Given the description of an element on the screen output the (x, y) to click on. 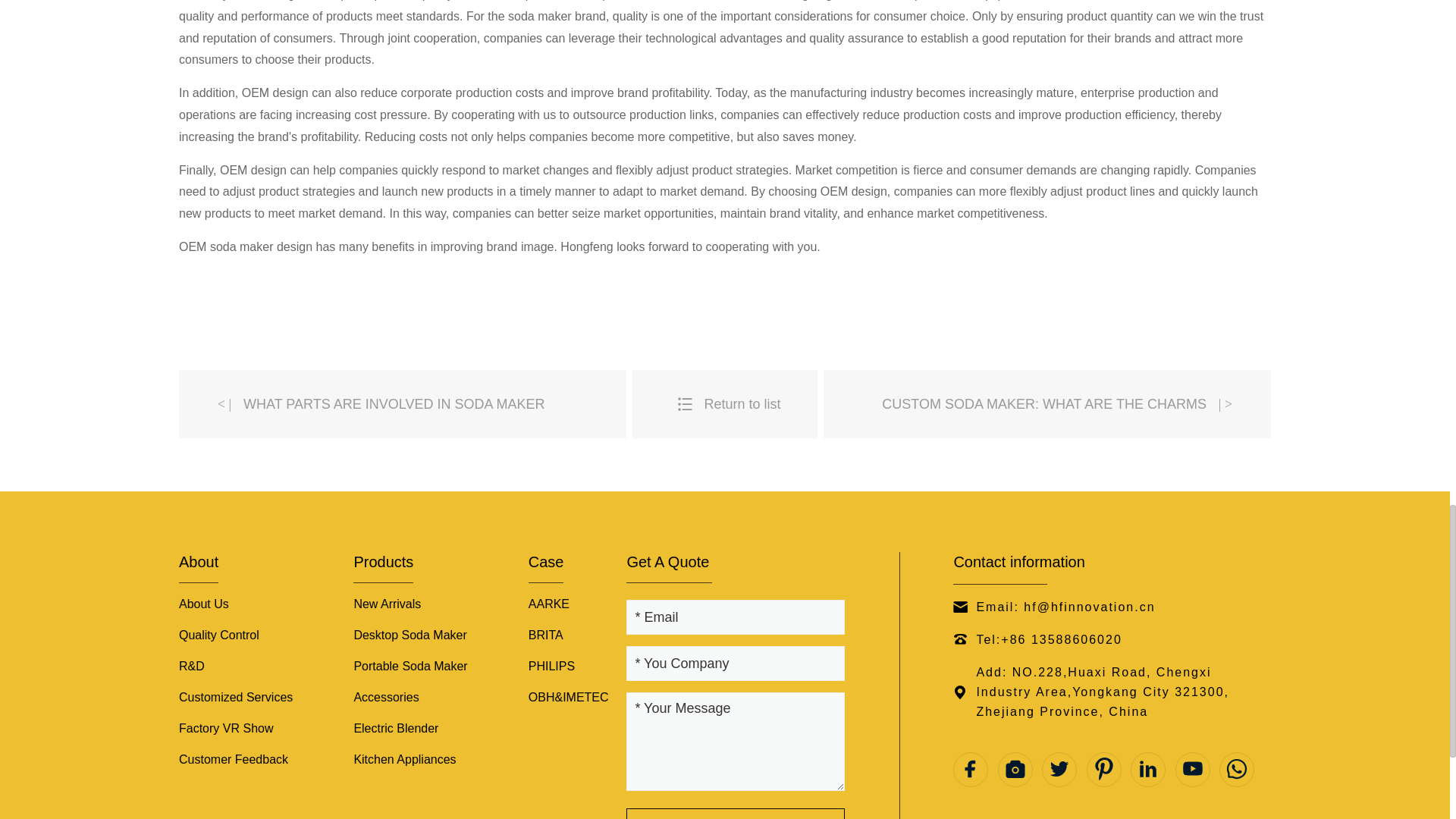
whatsapp (1236, 769)
instagram (1014, 769)
pinterest (1103, 769)
youtube (1191, 769)
facebook (970, 769)
twitter (1059, 769)
linkedin (1148, 769)
